Given the description of an element on the screen output the (x, y) to click on. 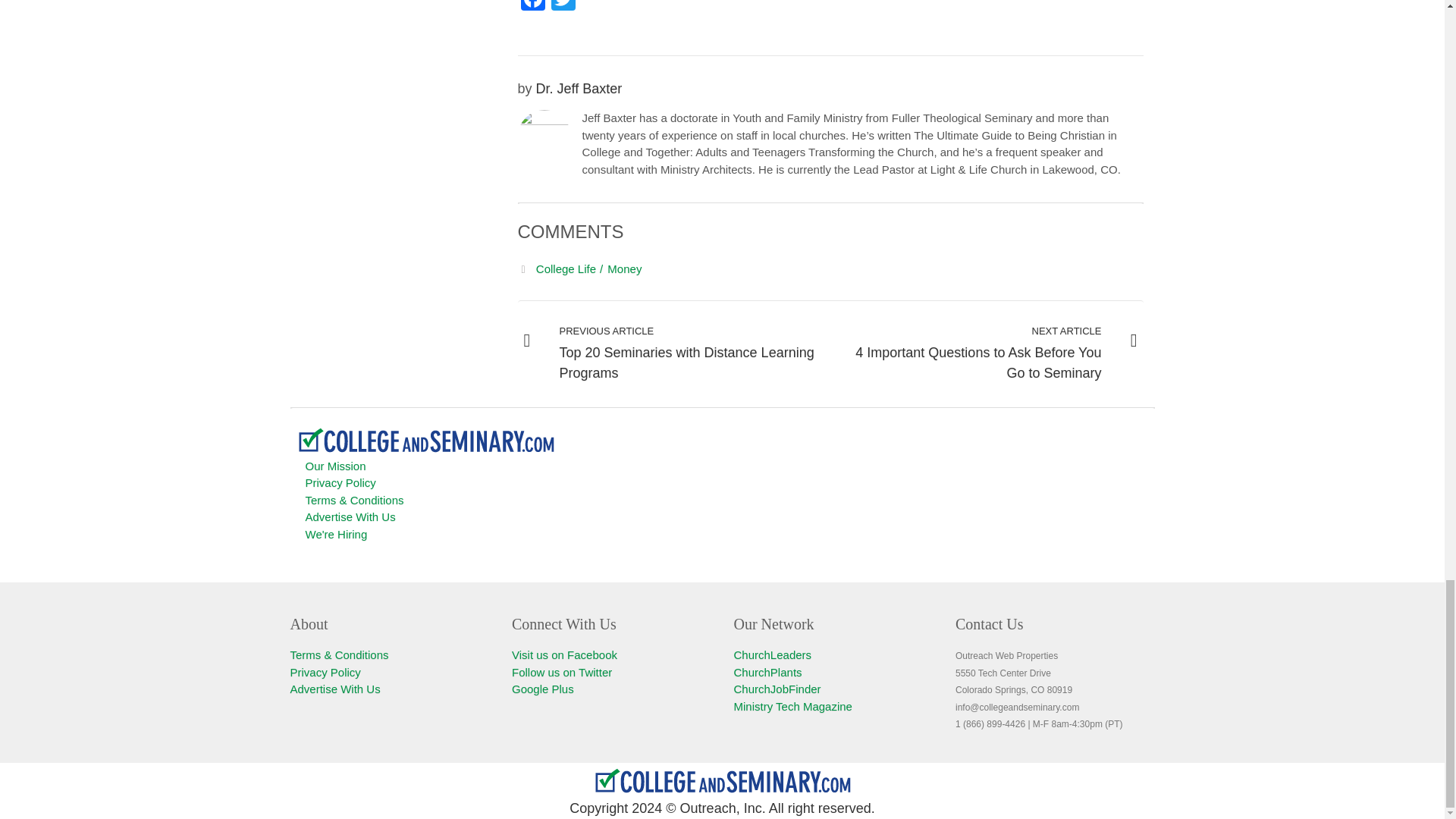
Twitter (562, 10)
Dr. Jeff Baxter (579, 88)
Posts by Dr. Jeff Baxter (579, 88)
Facebook (531, 10)
college and seminary facebook (564, 654)
college and seminary twitter (561, 671)
College Life (569, 268)
college and seminary google plus (542, 688)
Twitter (562, 10)
